Given the description of an element on the screen output the (x, y) to click on. 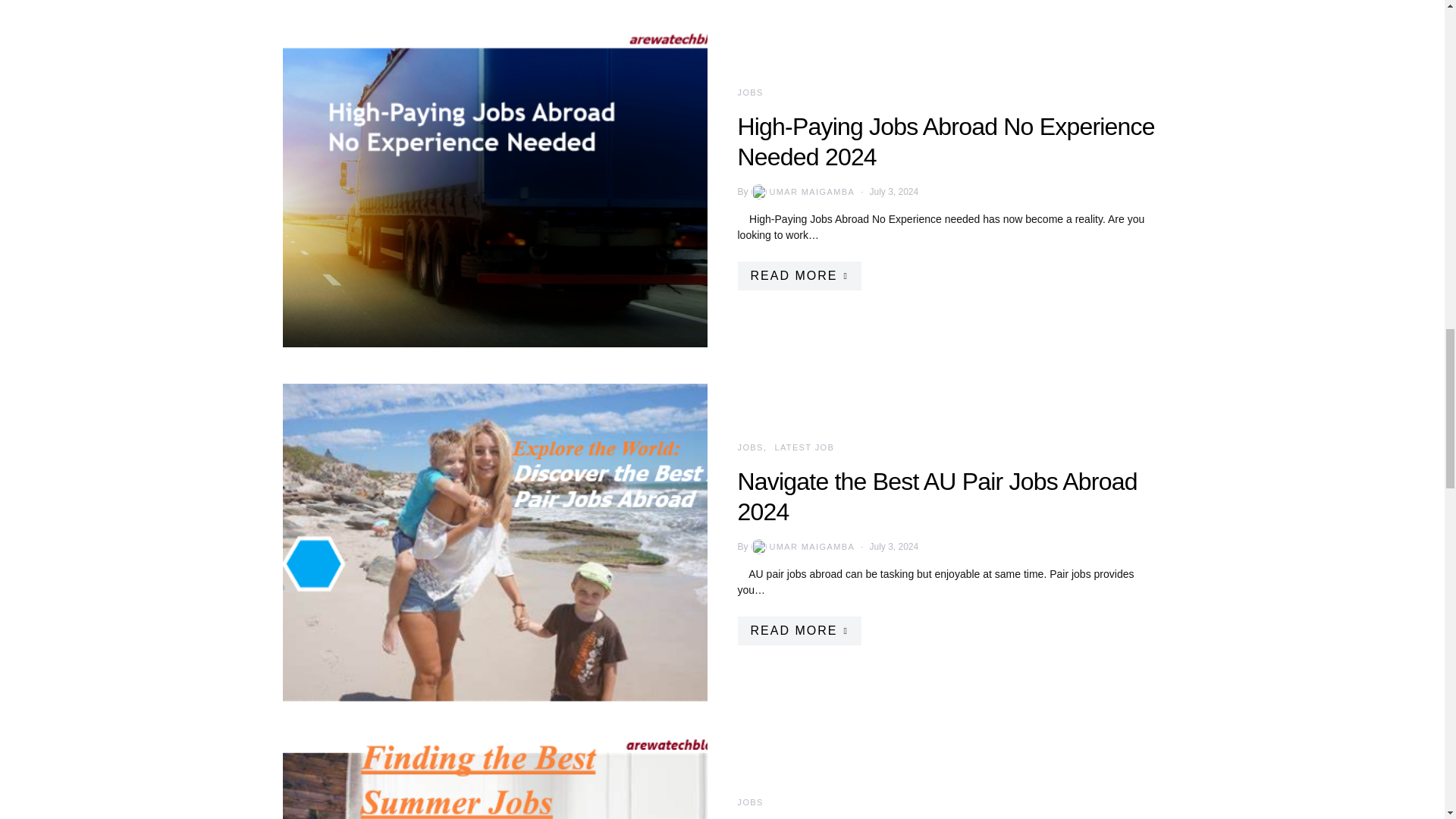
View all posts by Umar Maigamba (802, 191)
View all posts by Umar Maigamba (802, 546)
JOBS (749, 92)
